Given the description of an element on the screen output the (x, y) to click on. 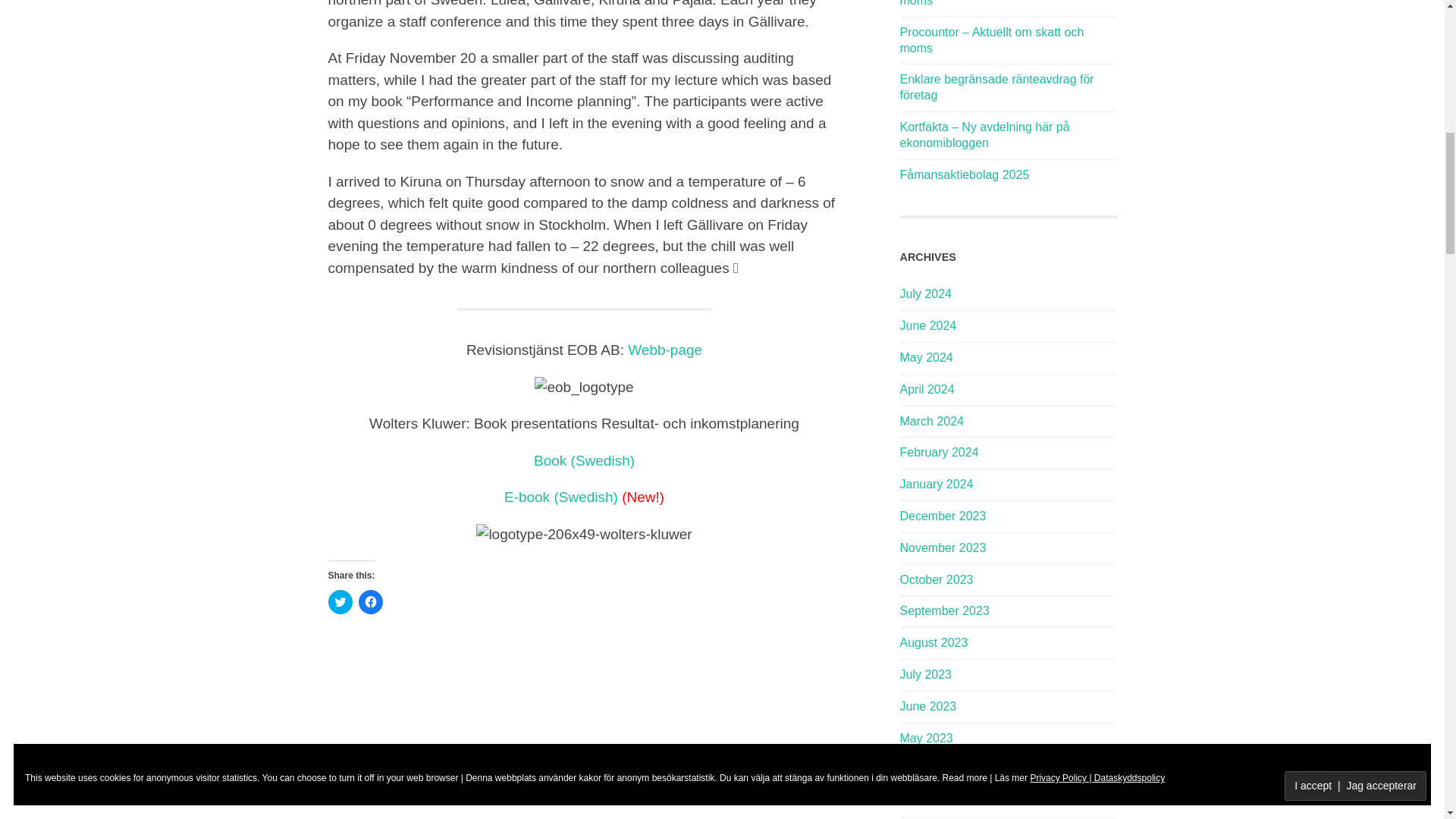
Click to share on Twitter (339, 601)
Click to share on Facebook (369, 601)
